Given the description of an element on the screen output the (x, y) to click on. 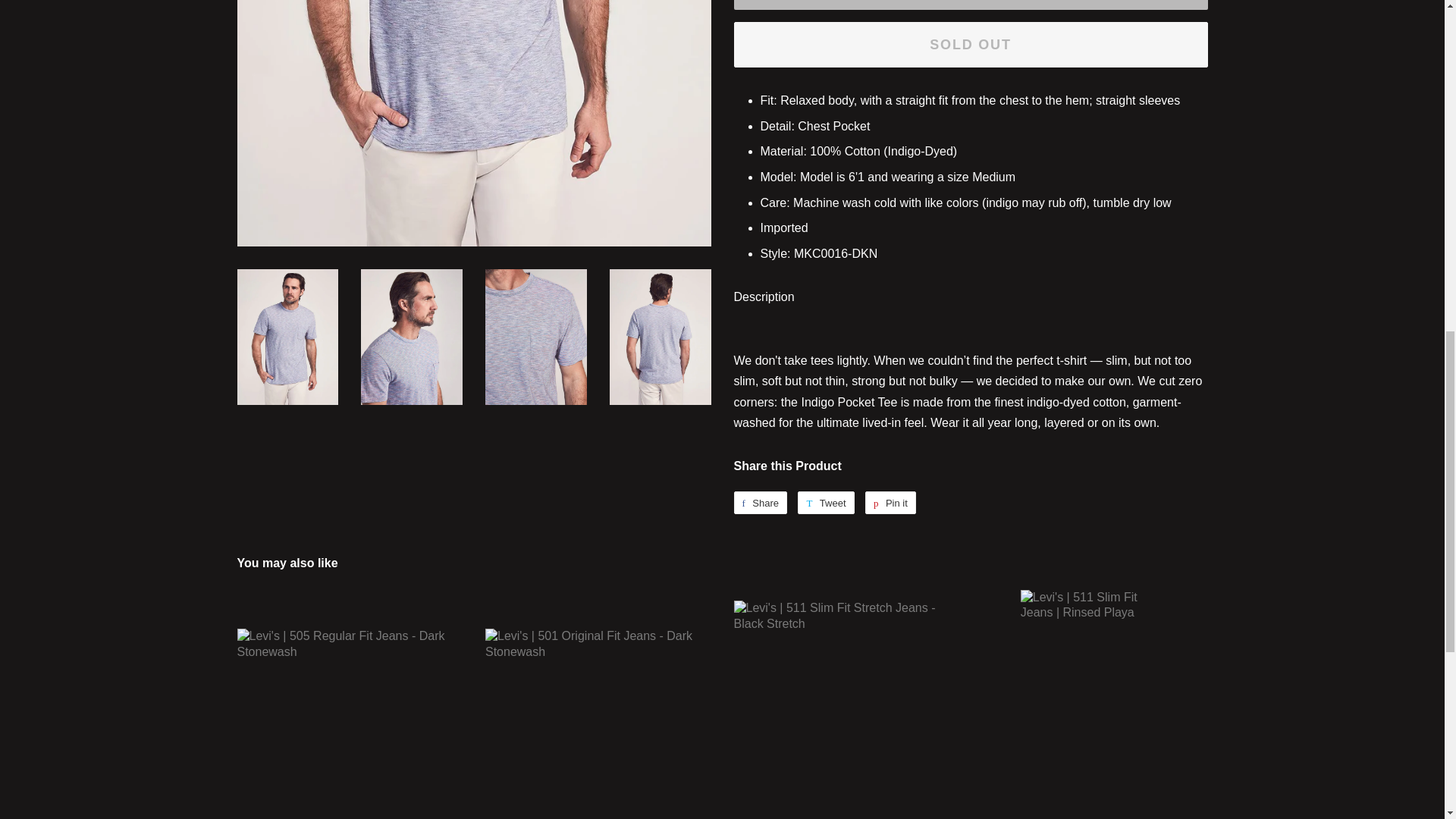
Share on Facebook (760, 502)
Pin on Pinterest (889, 502)
Tweet on Twitter (825, 502)
